Given the description of an element on the screen output the (x, y) to click on. 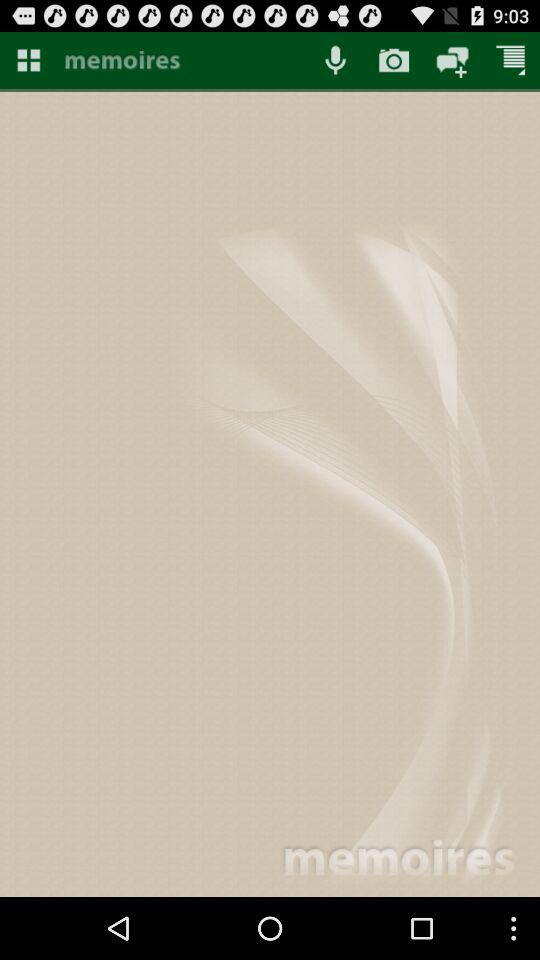
toggle chat (452, 60)
